Given the description of an element on the screen output the (x, y) to click on. 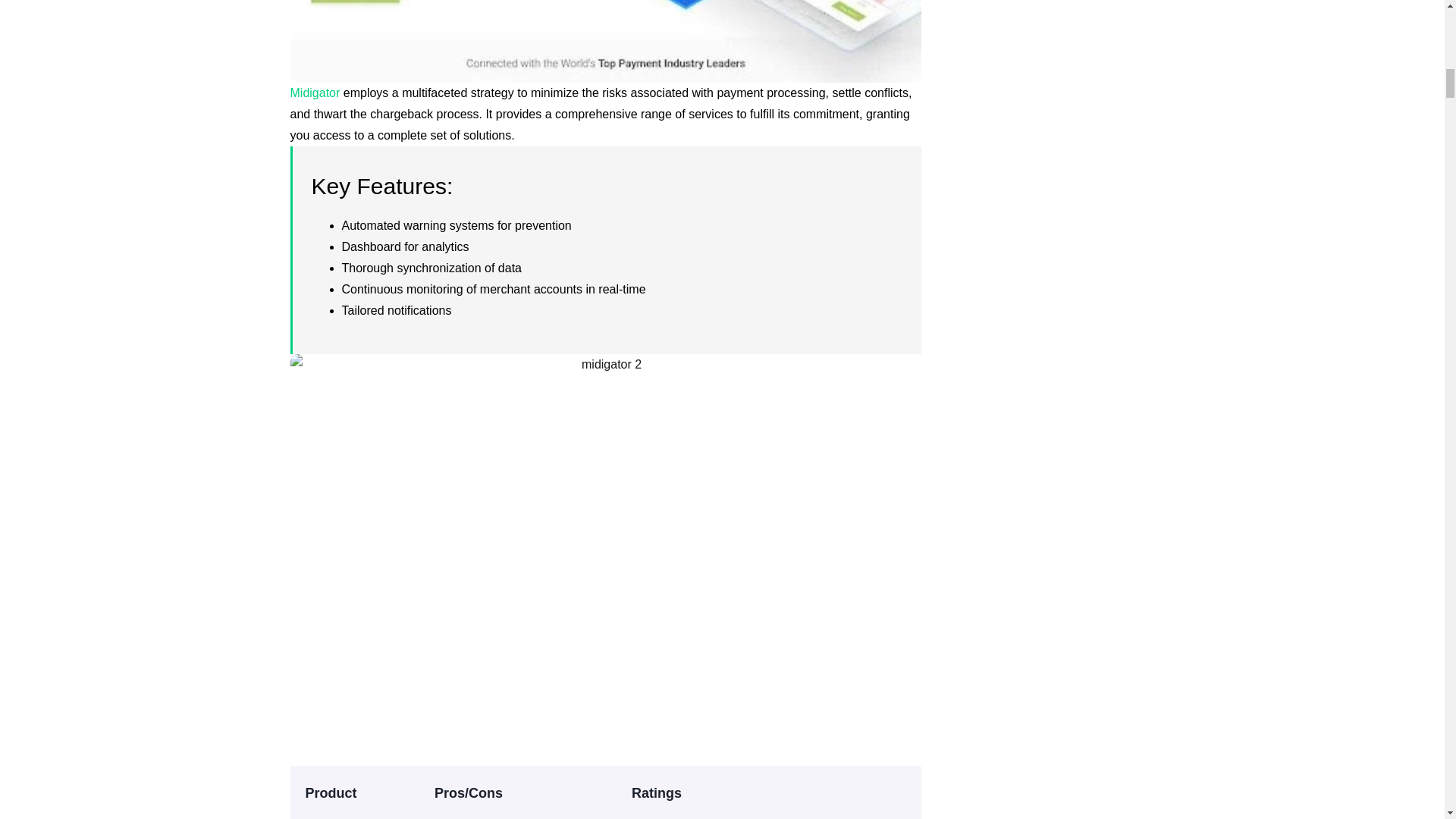
Midigator (314, 92)
